Given the description of an element on the screen output the (x, y) to click on. 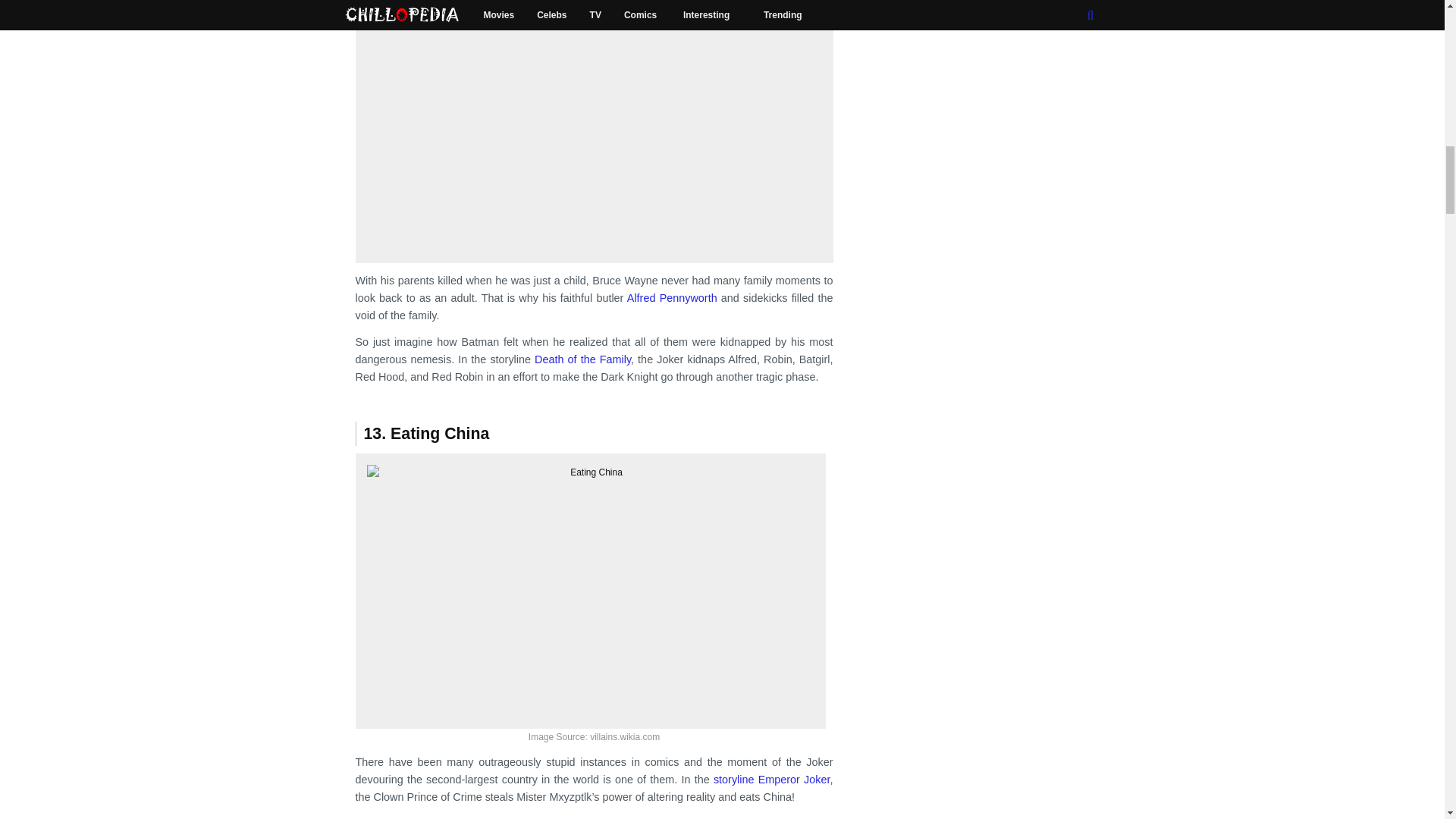
storyline Emperor Joker (771, 779)
Death of the Family (582, 358)
Alfred Pennyworth (672, 297)
